Given the description of an element on the screen output the (x, y) to click on. 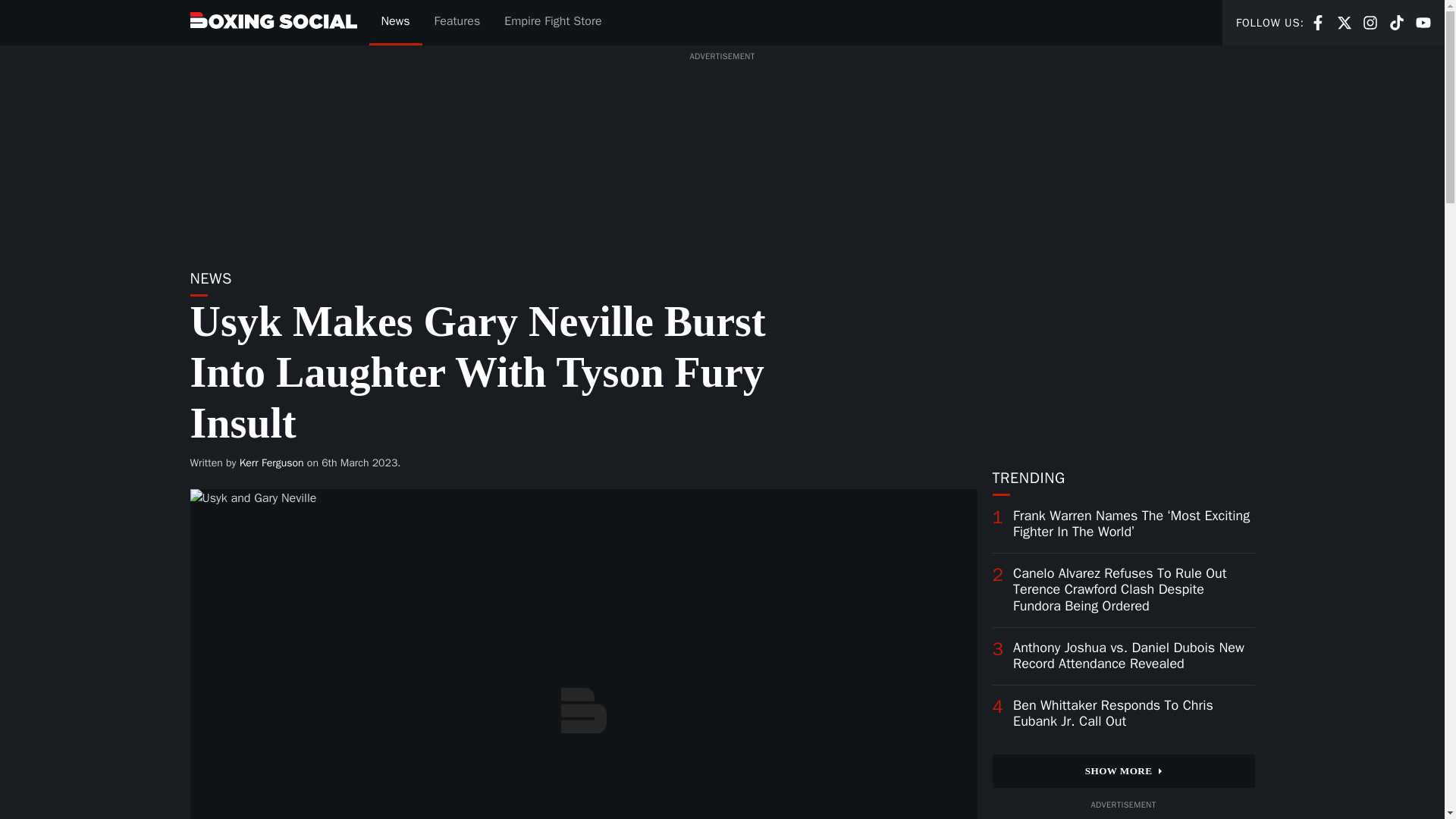
News (1397, 21)
Kerr Ferguson (1317, 21)
Ben Whittaker Responds To Chris Eubank Jr. Call Out (395, 22)
TIKTOK (272, 462)
FACEBOOK (1369, 21)
